Given the description of an element on the screen output the (x, y) to click on. 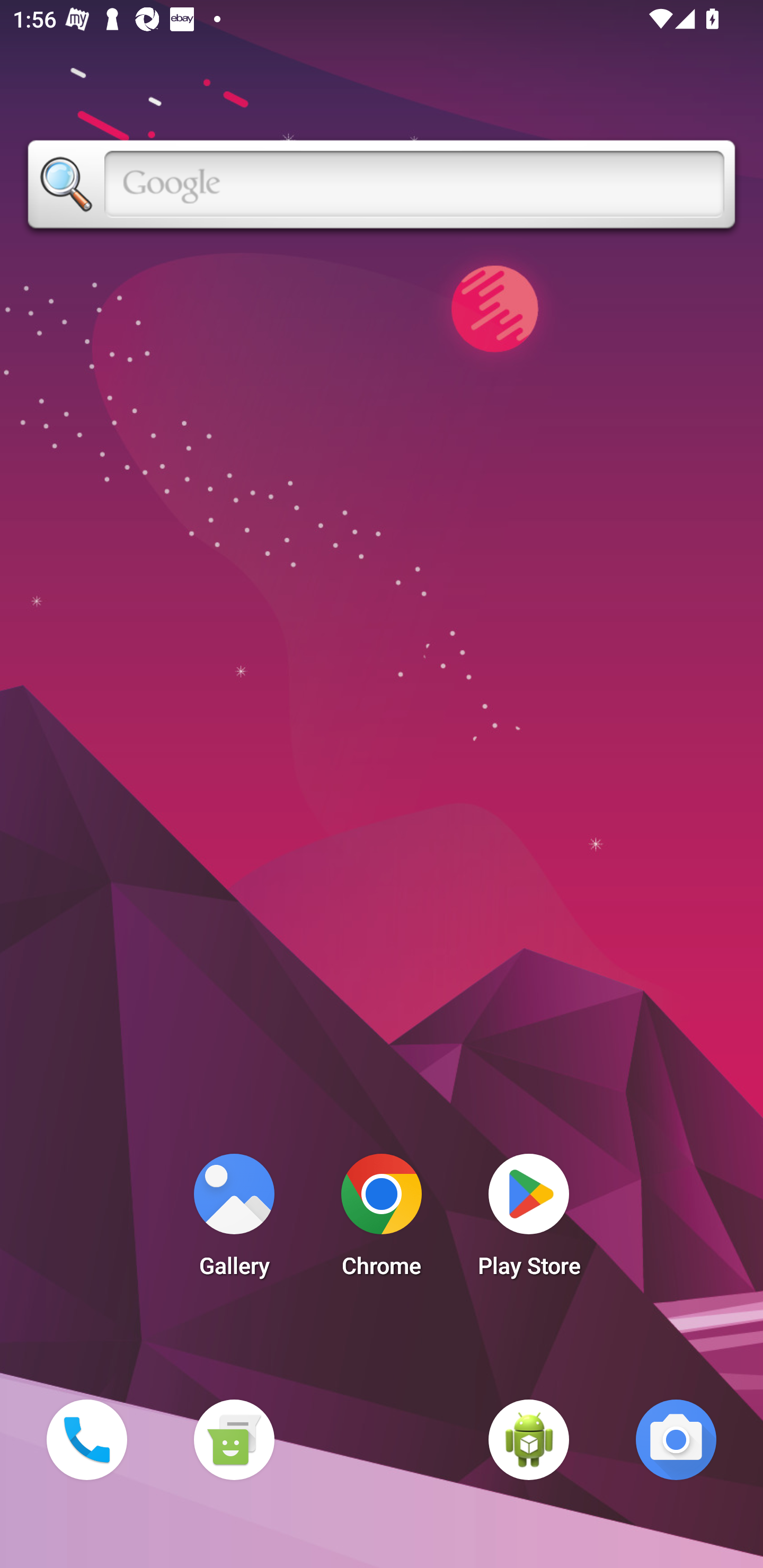
Gallery (233, 1220)
Chrome (381, 1220)
Play Store (528, 1220)
Phone (86, 1439)
Messaging (233, 1439)
WebView Browser Tester (528, 1439)
Camera (676, 1439)
